Given the description of an element on the screen output the (x, y) to click on. 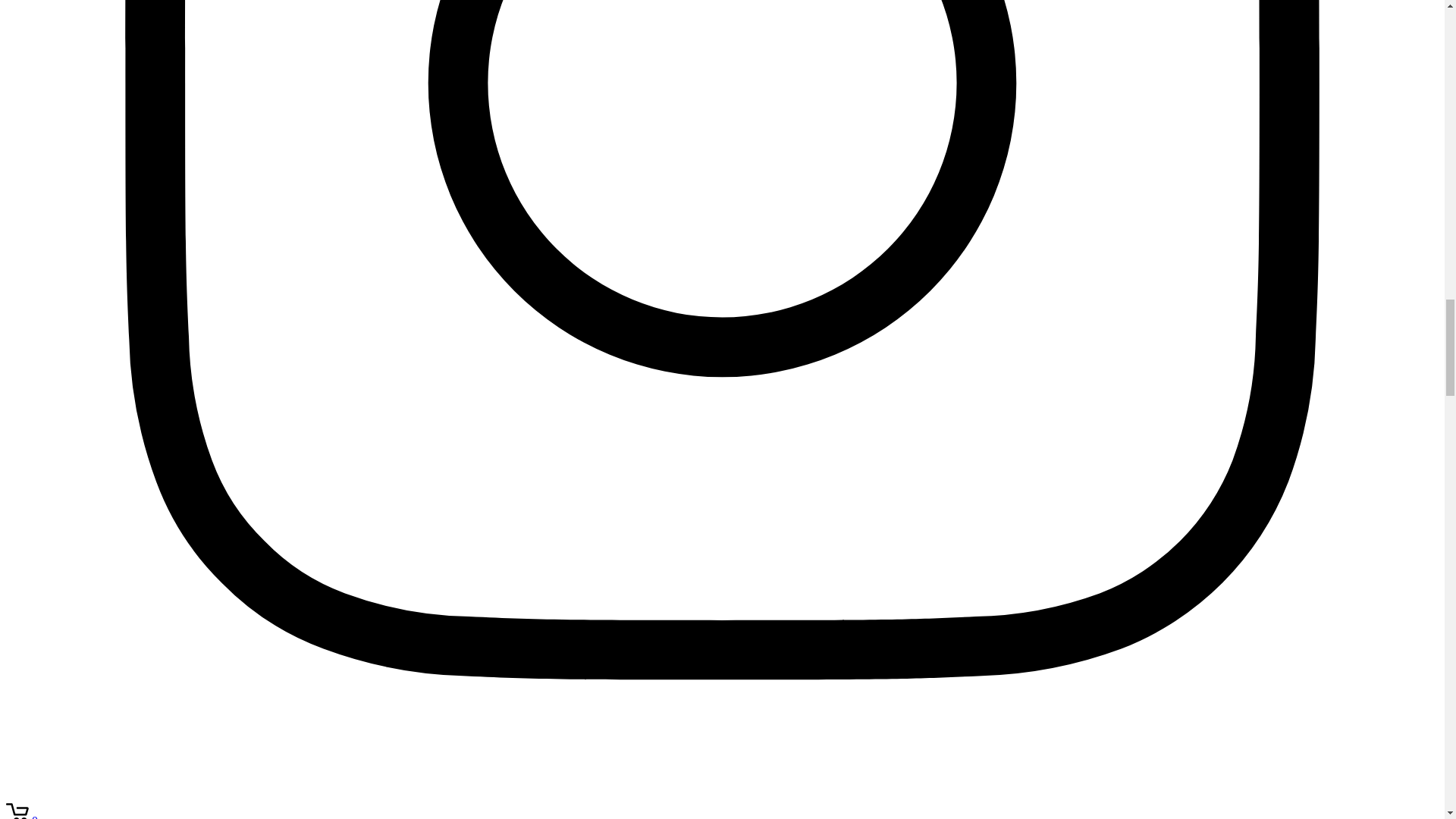
0 (21, 816)
